Given the description of an element on the screen output the (x, y) to click on. 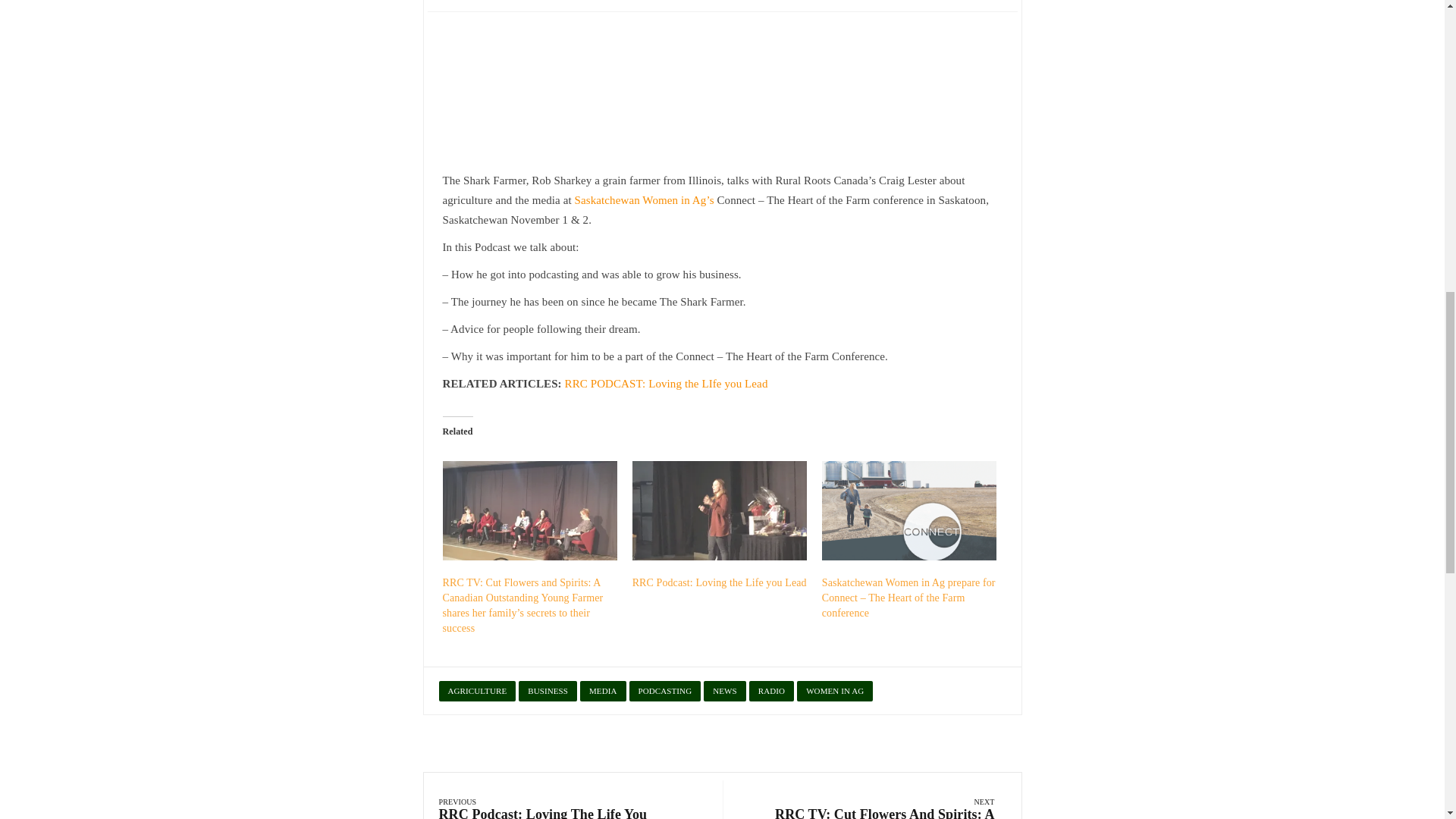
RRC Podcast: Loving the Life you Lead (718, 582)
RRC Podcast: Loving the Life you Lead (718, 511)
AGRICULTURE (476, 690)
RADIO (771, 690)
RRC PODCAST: Loving the LIfe you Lead (666, 383)
MEDIA (602, 690)
WOMEN IN AG (834, 690)
NEWS (724, 690)
PODCASTING (664, 690)
BUSINESS (547, 690)
RRC Podcast: Loving the Life you Lead (718, 582)
